Given the description of an element on the screen output the (x, y) to click on. 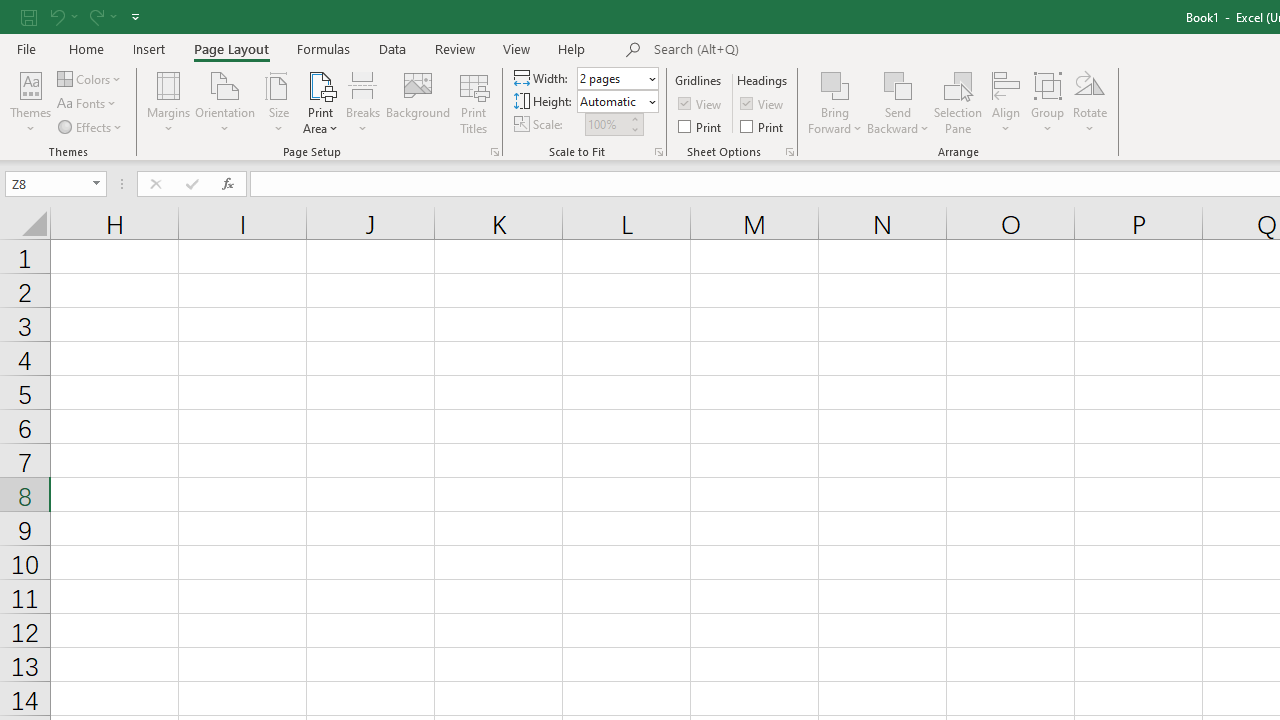
Colors (90, 78)
Print Area (320, 102)
Width (611, 78)
Breaks (362, 102)
Selection Pane... (958, 102)
Page Setup (658, 151)
Orientation (225, 102)
Less (633, 129)
Group (1047, 102)
